Given the description of an element on the screen output the (x, y) to click on. 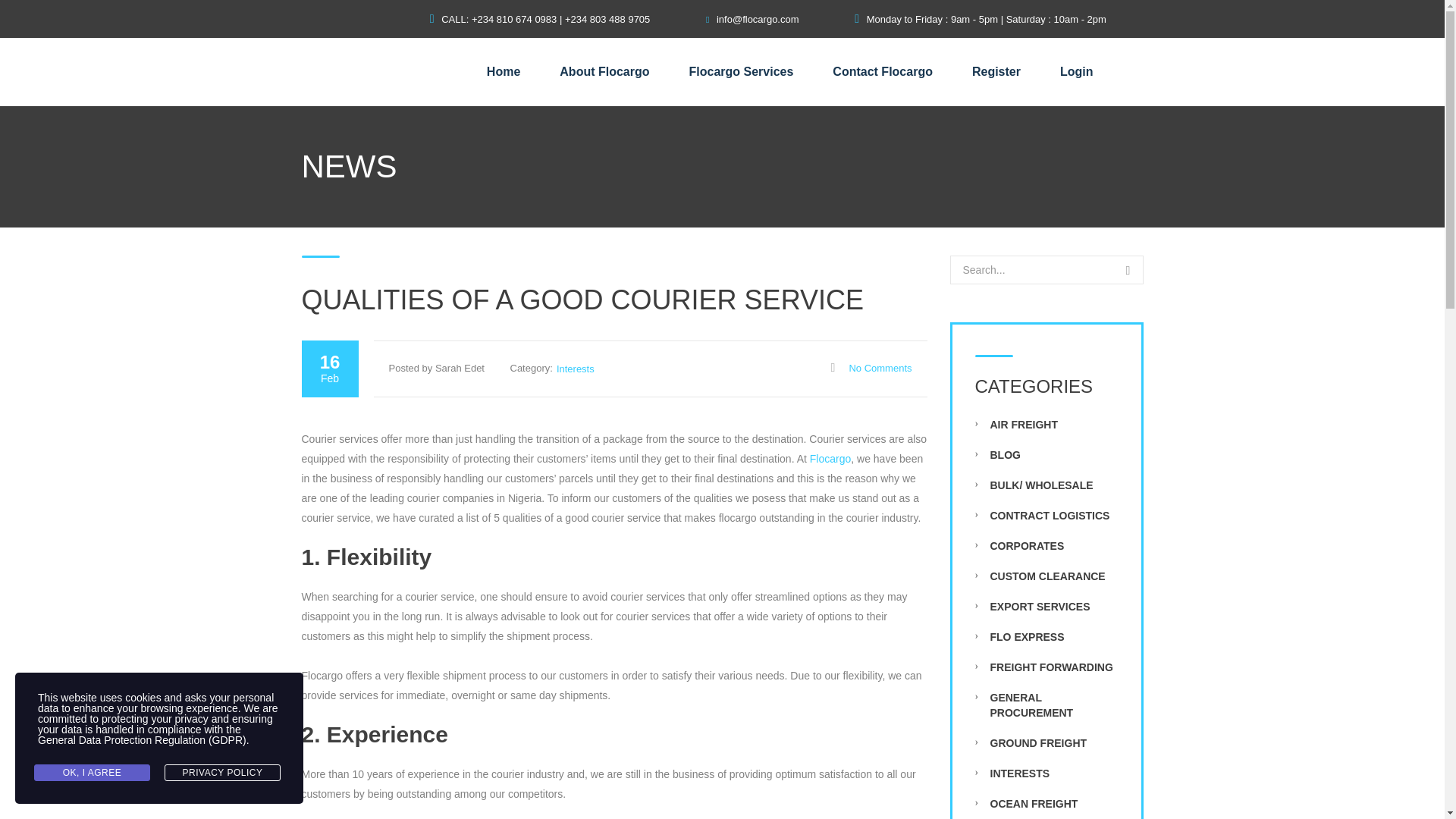
About Flocargo (604, 71)
Contact Flocargo (882, 71)
AIR FREIGHT (1024, 424)
BLOG (1005, 454)
Flocargo Services (740, 71)
Interests (575, 368)
No Comments (870, 367)
Flocargo (828, 458)
Register (996, 71)
Home (502, 71)
Login (1076, 71)
